Given the description of an element on the screen output the (x, y) to click on. 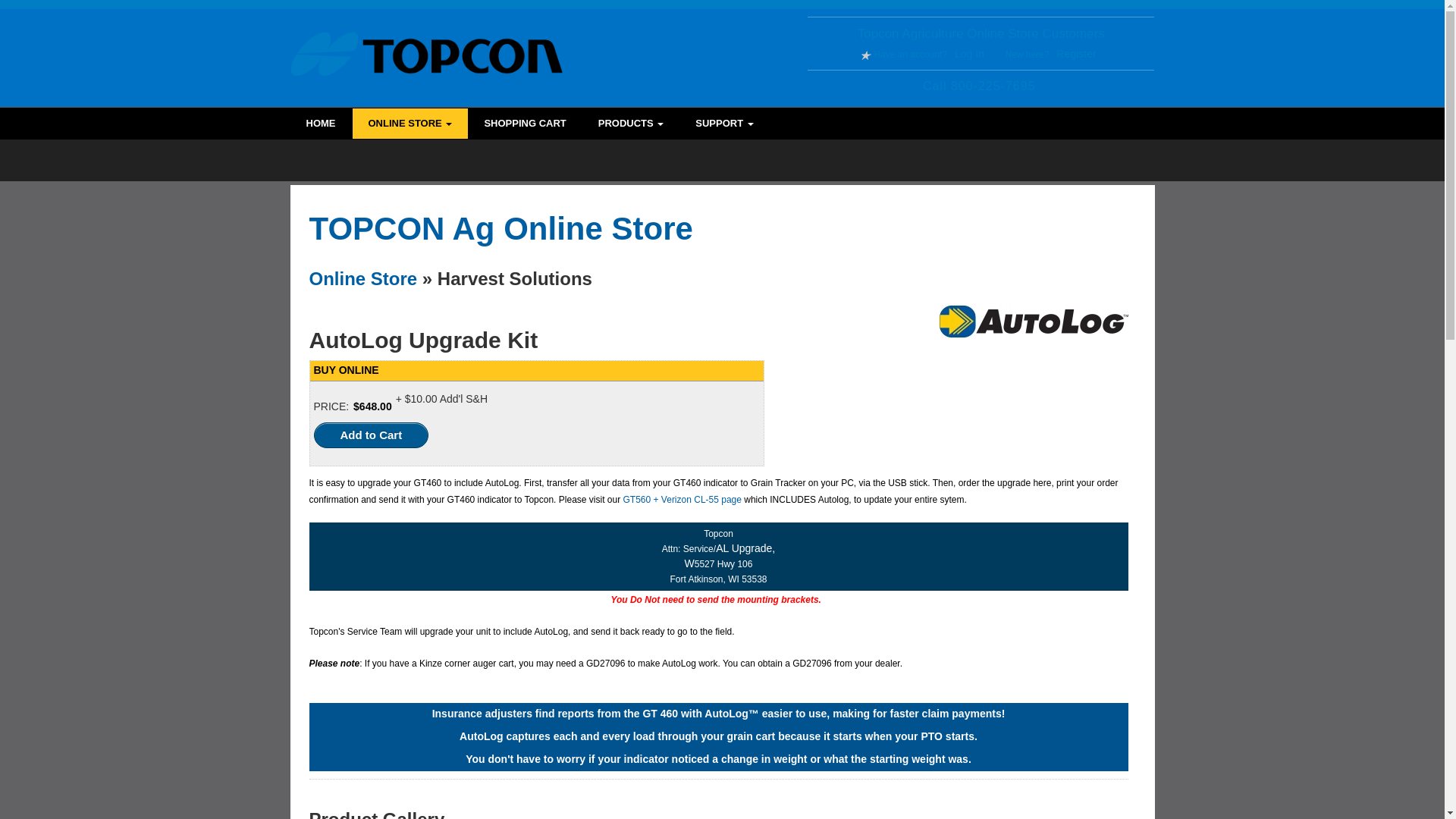
Home (320, 123)
Online Store (362, 278)
Products (630, 123)
SHOPPING CART (523, 123)
Log In (969, 53)
Add to Cart (371, 434)
ONLINE STORE (409, 123)
Add to Cart (371, 434)
Store (409, 123)
TOPCON Ag Online Store (500, 228)
HOME (320, 123)
PRODUCTS (630, 123)
Support (723, 123)
SUPPORT (723, 123)
Register (1076, 53)
